Given the description of an element on the screen output the (x, y) to click on. 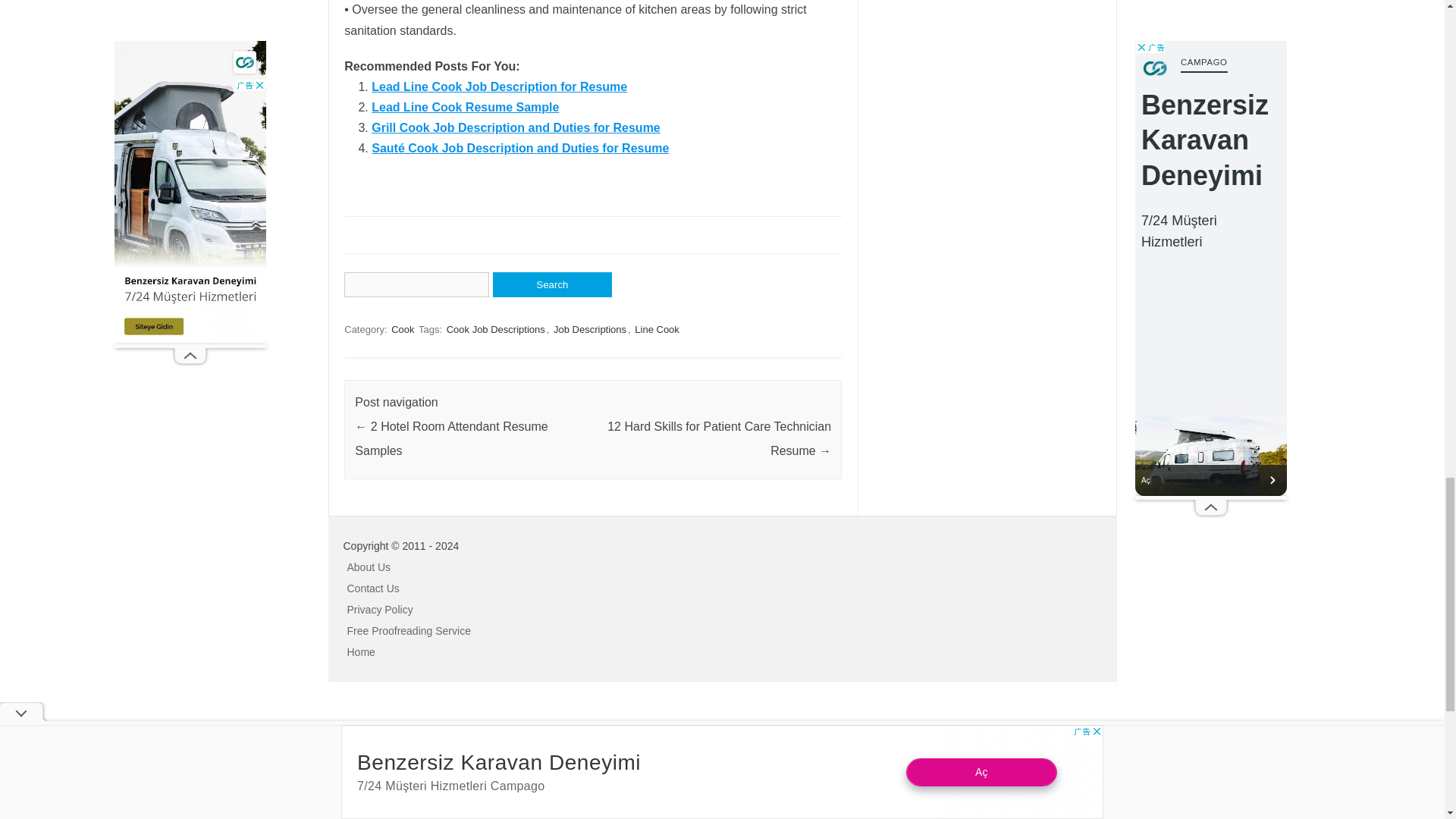
Privacy Policy (380, 609)
Grill Cook Job Description and Duties for Resume (516, 127)
Cook Job Descriptions (496, 329)
Lead Line Cook Resume Sample (465, 106)
Contact Us (372, 588)
Lead Line Cook Resume Sample (465, 106)
Job Descriptions (589, 329)
Free Proofreading Service (408, 630)
Lead Line Cook Job Description for Resume (499, 86)
Lead Line Cook Job Description for Resume (499, 86)
